Given the description of an element on the screen output the (x, y) to click on. 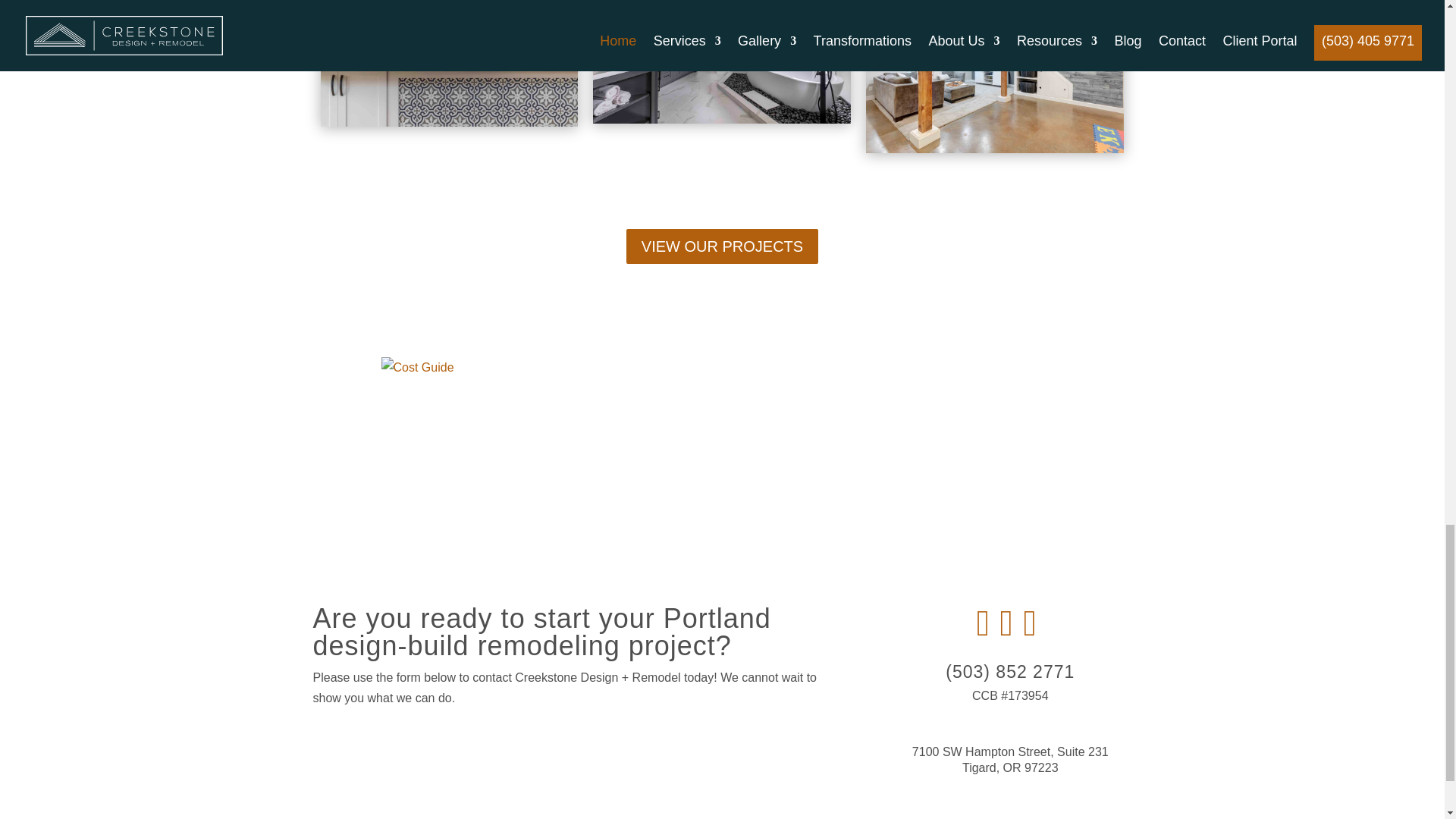
VIEW OUR PROJECTS (722, 246)
